Given the description of an element on the screen output the (x, y) to click on. 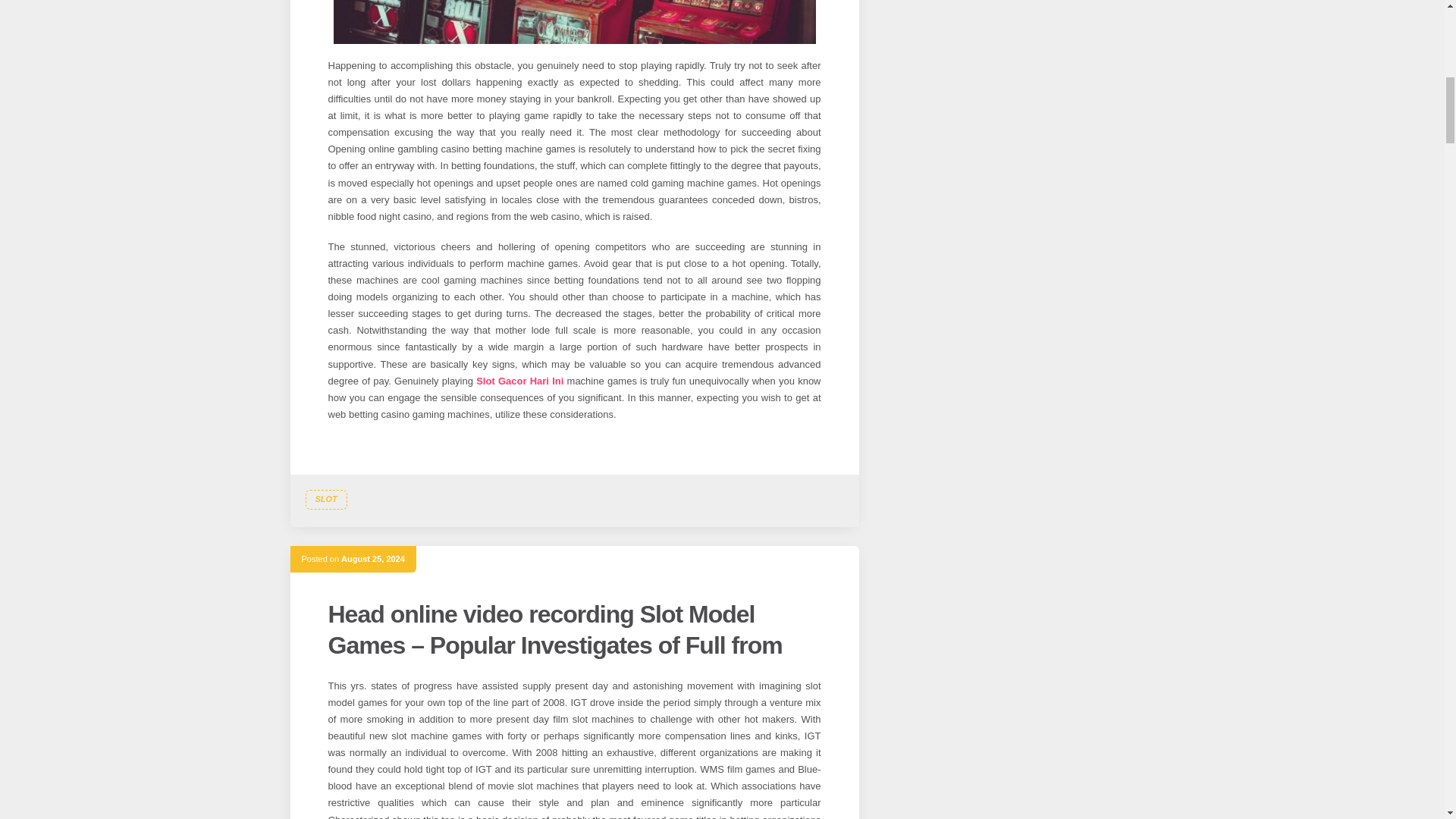
Slot Gacor Hari Ini (519, 380)
August 25, 2024 (372, 558)
SLOT (325, 499)
